Given the description of an element on the screen output the (x, y) to click on. 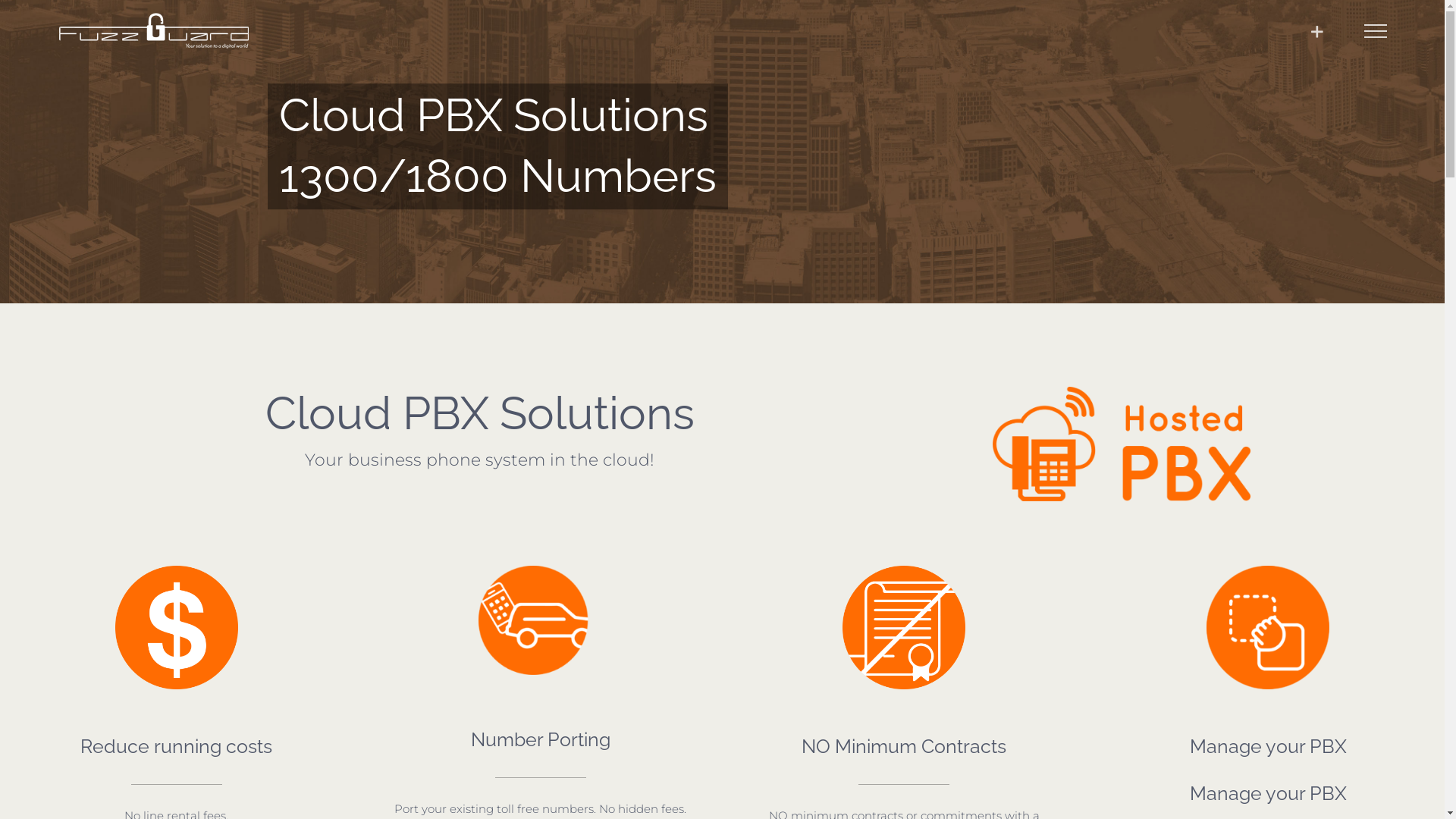
NoLockInContracts Element type: hover (903, 626)
HostedPBXLogo Element type: hover (1120, 443)
DollarSign Element type: hover (176, 626)
